Given the description of an element on the screen output the (x, y) to click on. 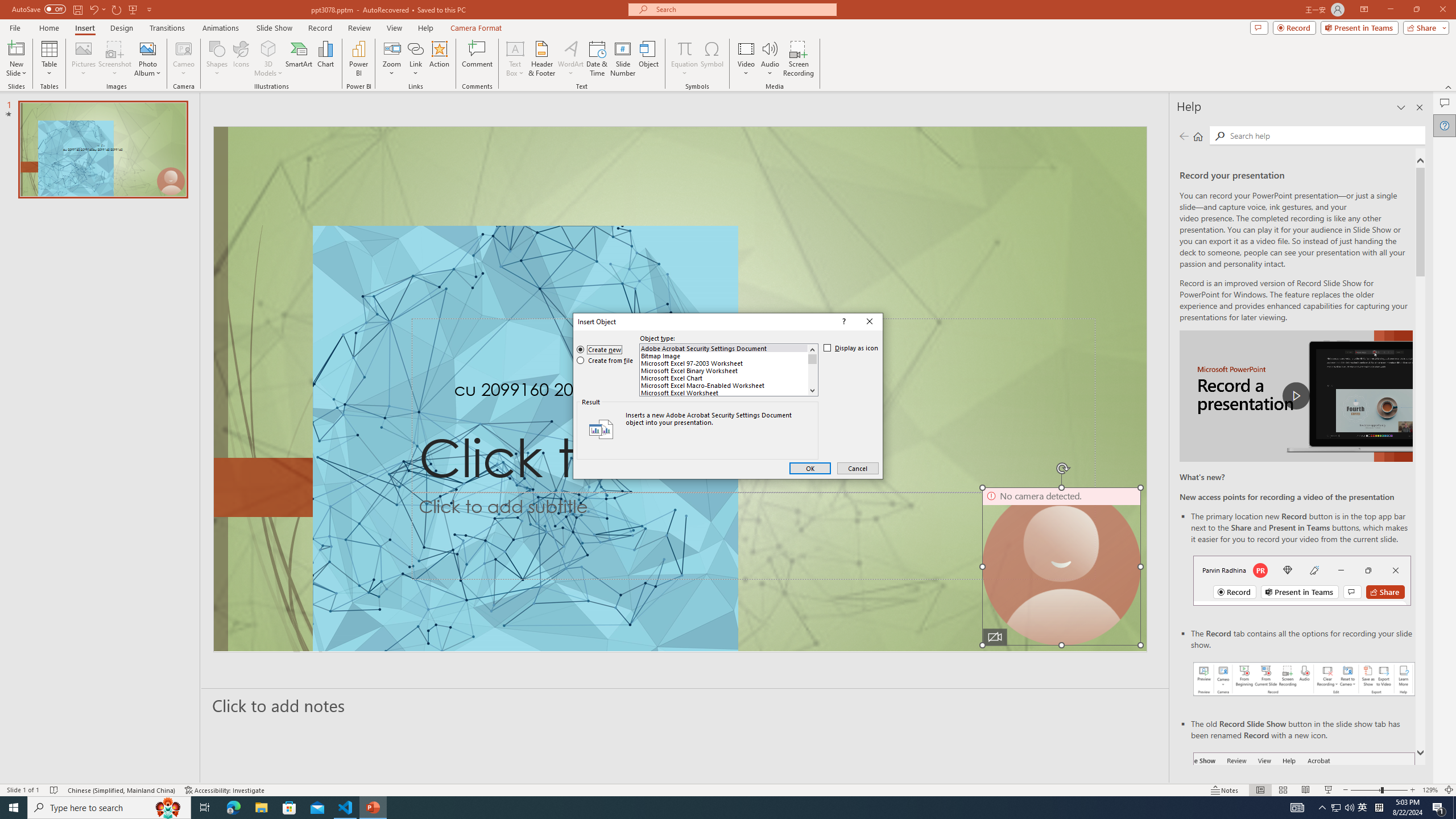
Create new (598, 349)
Action Center, 1 new notification (1439, 807)
Photo Album... (147, 58)
WordArt (570, 58)
